Given the description of an element on the screen output the (x, y) to click on. 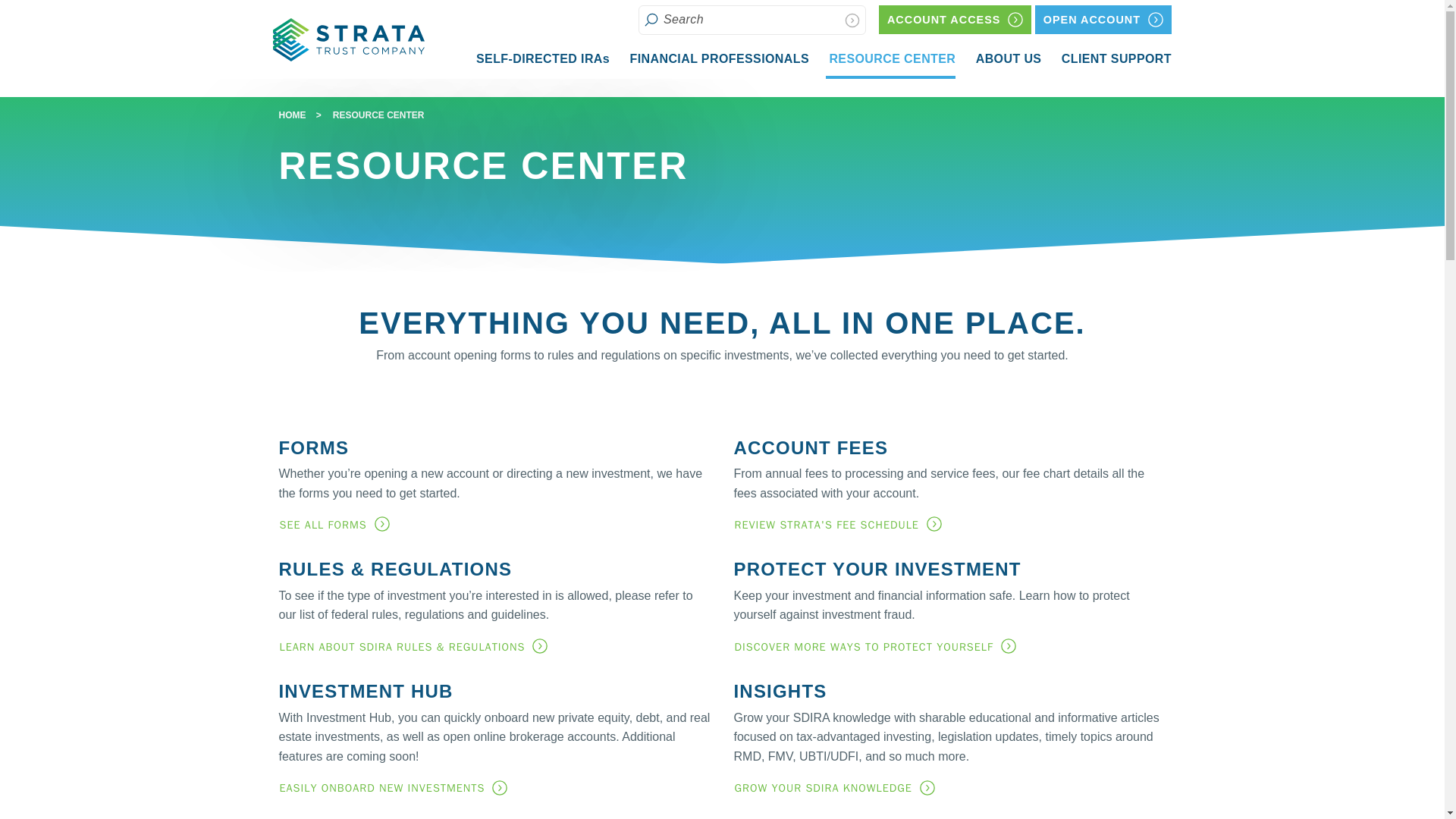
RESOURCE CENTER (890, 60)
FINANCIAL PROFESSIONALS (717, 58)
ACCOUNT ACCESS (541, 58)
CLIENT SUPPORT (954, 19)
ABOUT US (1115, 58)
OPEN ACCOUNT (1007, 58)
